Given the description of an element on the screen output the (x, y) to click on. 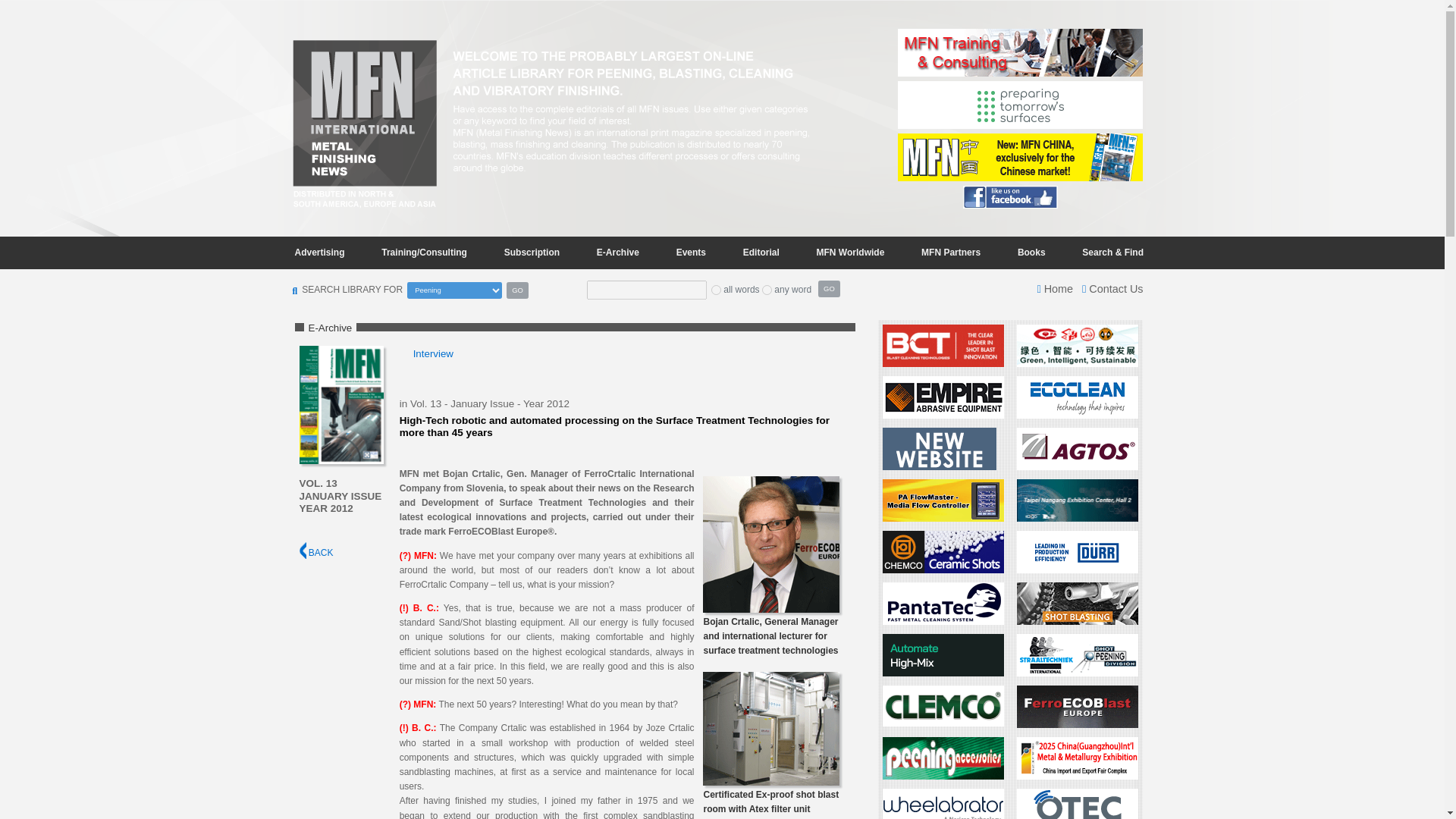
OR (766, 289)
Advertising (319, 252)
GO (829, 288)
E-Archive (617, 252)
Subscription (531, 252)
GO (517, 289)
AND (715, 289)
Home (1054, 288)
Books (1031, 252)
BACK (315, 552)
MFN Partners (951, 252)
Events (690, 252)
Editorial (761, 252)
Contact Us (1111, 288)
MFN Worldwide (850, 252)
